Given the description of an element on the screen output the (x, y) to click on. 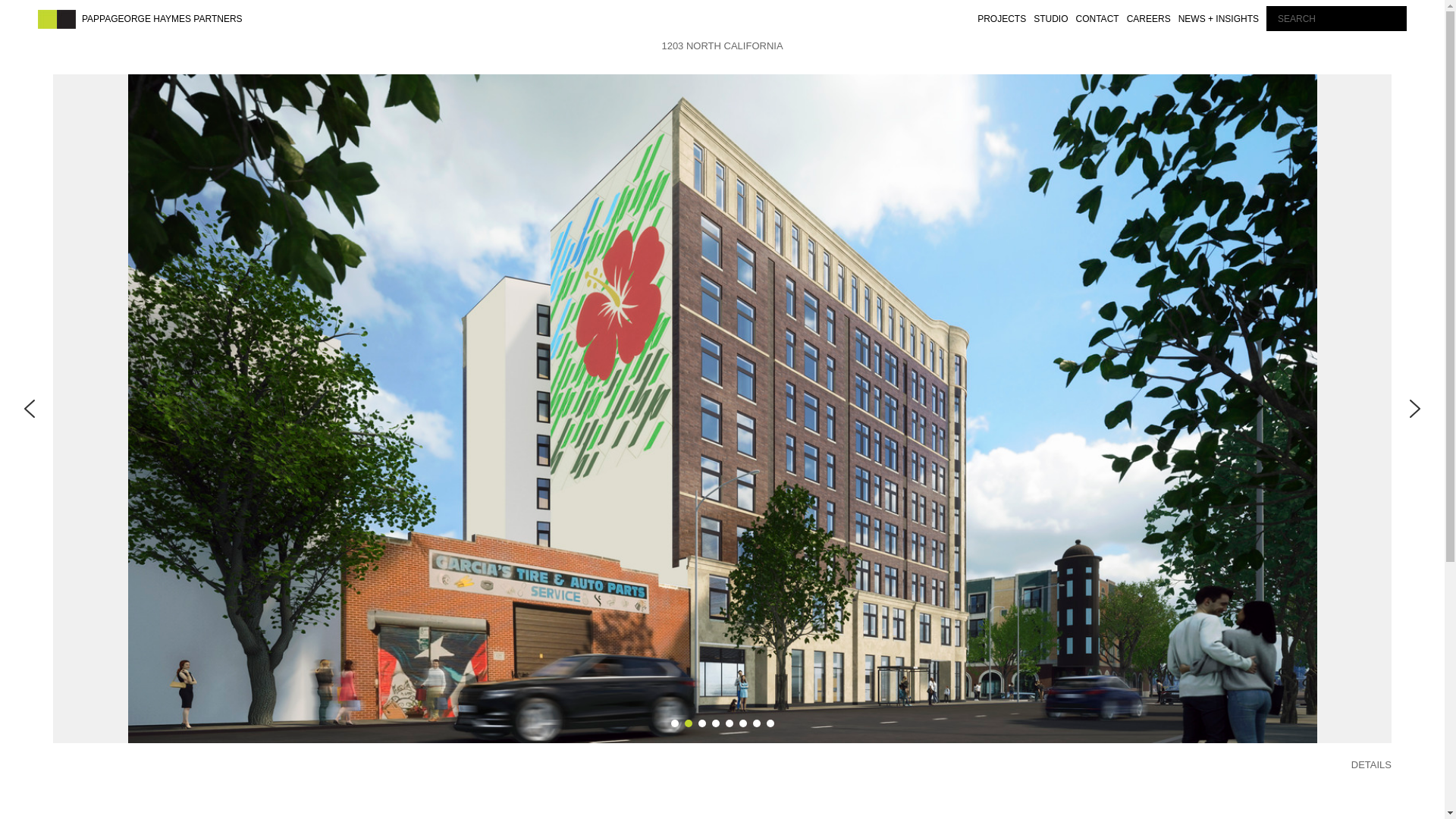
CONTACT (1096, 18)
CAREERS (1148, 18)
PROJECTS (1001, 18)
1203 NORTH CALIFORNIA (722, 45)
STUDIO (1050, 18)
PAPPAGEORGE HAYMES PARTNERS (162, 18)
DETAILS (1371, 764)
